Given the description of an element on the screen output the (x, y) to click on. 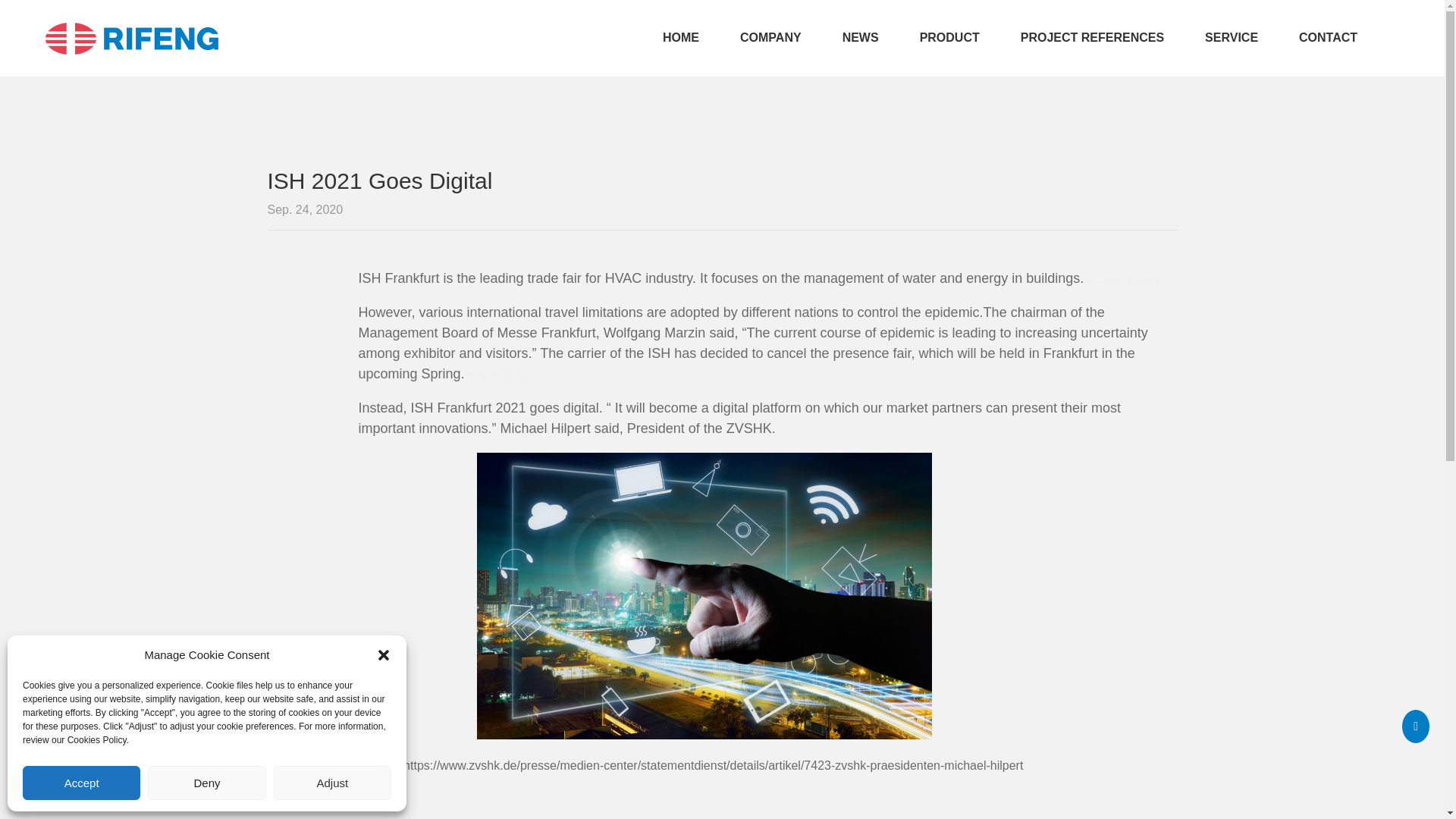
RIFENG (131, 38)
PROJECT REFERENCES (1091, 38)
